Given the description of an element on the screen output the (x, y) to click on. 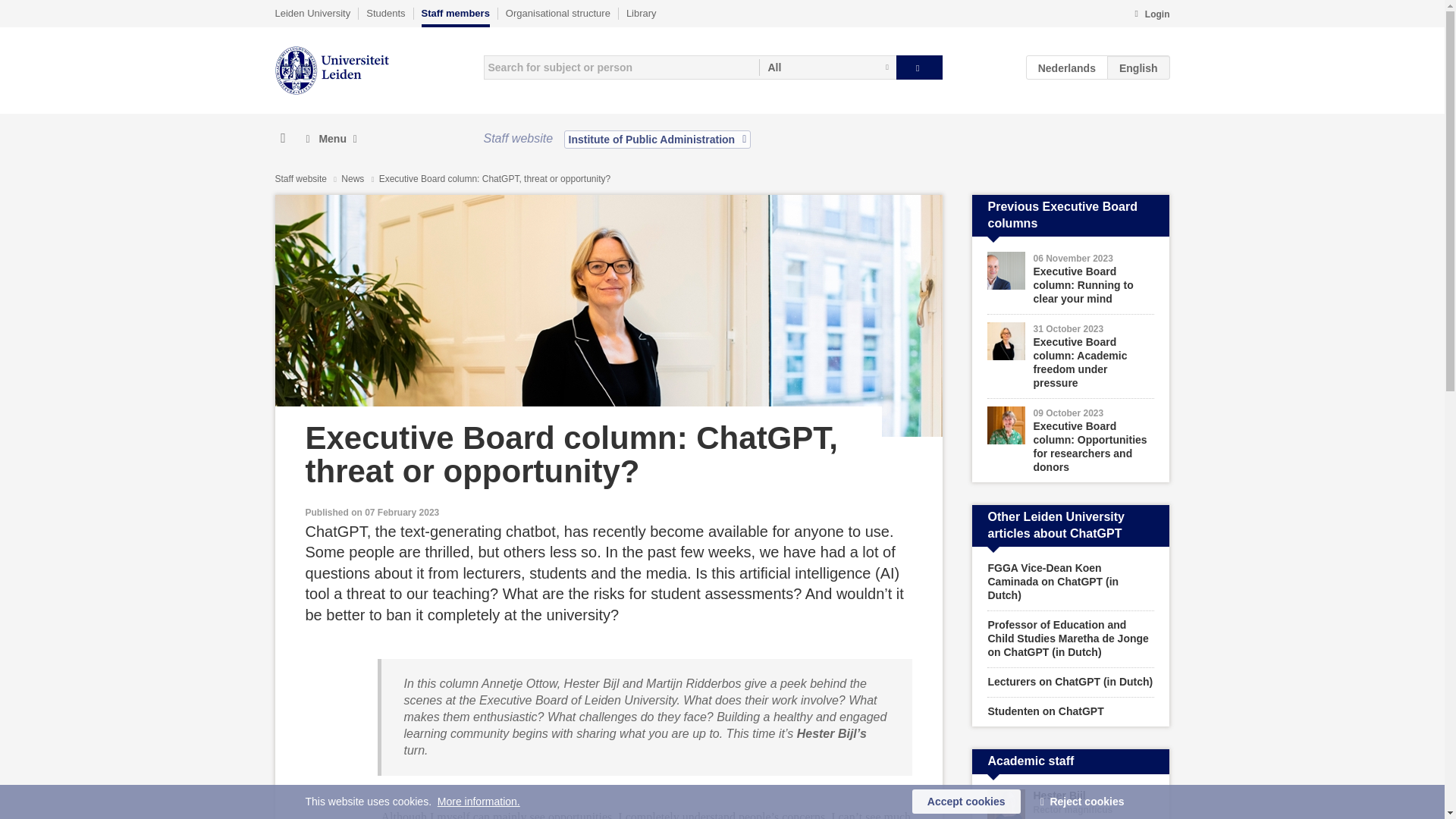
Staff website (300, 178)
News (353, 178)
Staff members (455, 17)
Menu (330, 139)
NL (1067, 67)
Students (385, 13)
Institute of Public Administration (657, 139)
Login (1151, 14)
